Given the description of an element on the screen output the (x, y) to click on. 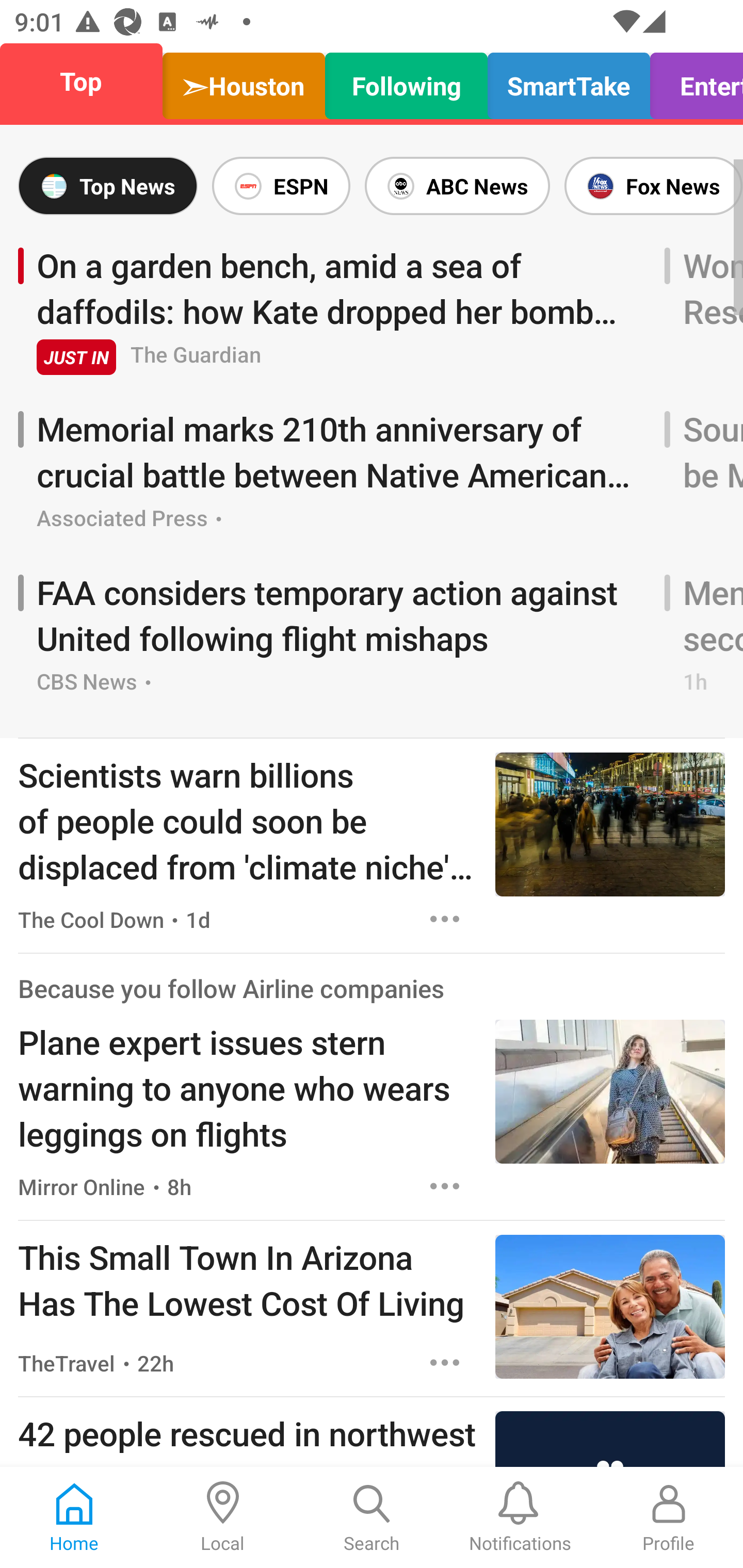
Top (86, 81)
➣Houston (243, 81)
Following (406, 81)
SmartTake (569, 81)
Entertain (690, 81)
ESPN (281, 185)
ABC News (457, 185)
Fox News (650, 185)
JUST IN (75, 356)
Options (444, 918)
Because you follow Airline companies (230, 987)
Options (444, 1186)
Options (444, 1362)
Local (222, 1517)
Search (371, 1517)
Notifications (519, 1517)
Profile (668, 1517)
